Given the description of an element on the screen output the (x, y) to click on. 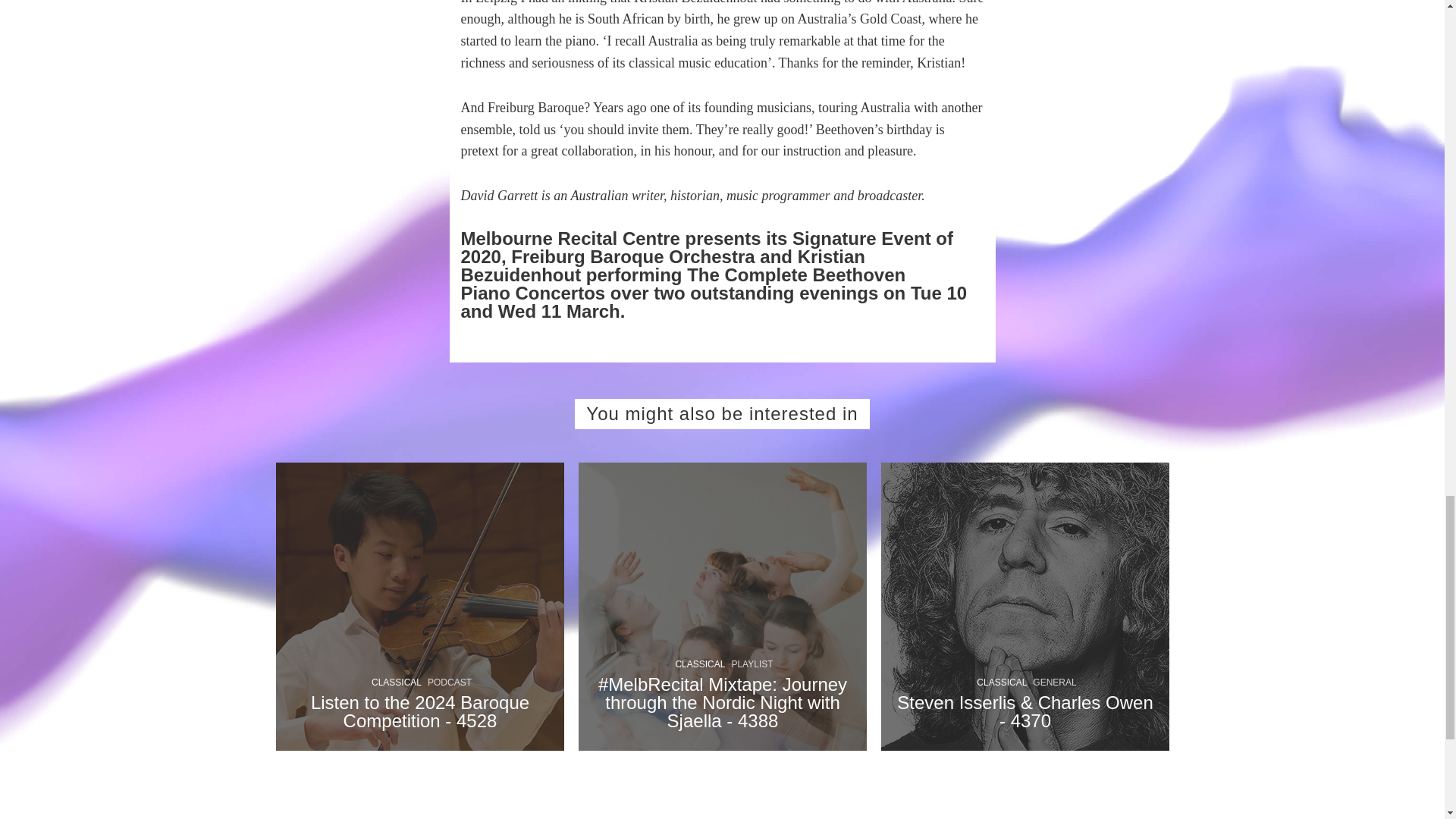
Listen to the 2024 Baroque Competition - 4528 (419, 722)
CLASSICAL (1001, 681)
CLASSICAL (700, 663)
PLAYLIST (751, 663)
PODCAST (449, 681)
GENERAL (1053, 681)
CLASSICAL (396, 681)
